Given the description of an element on the screen output the (x, y) to click on. 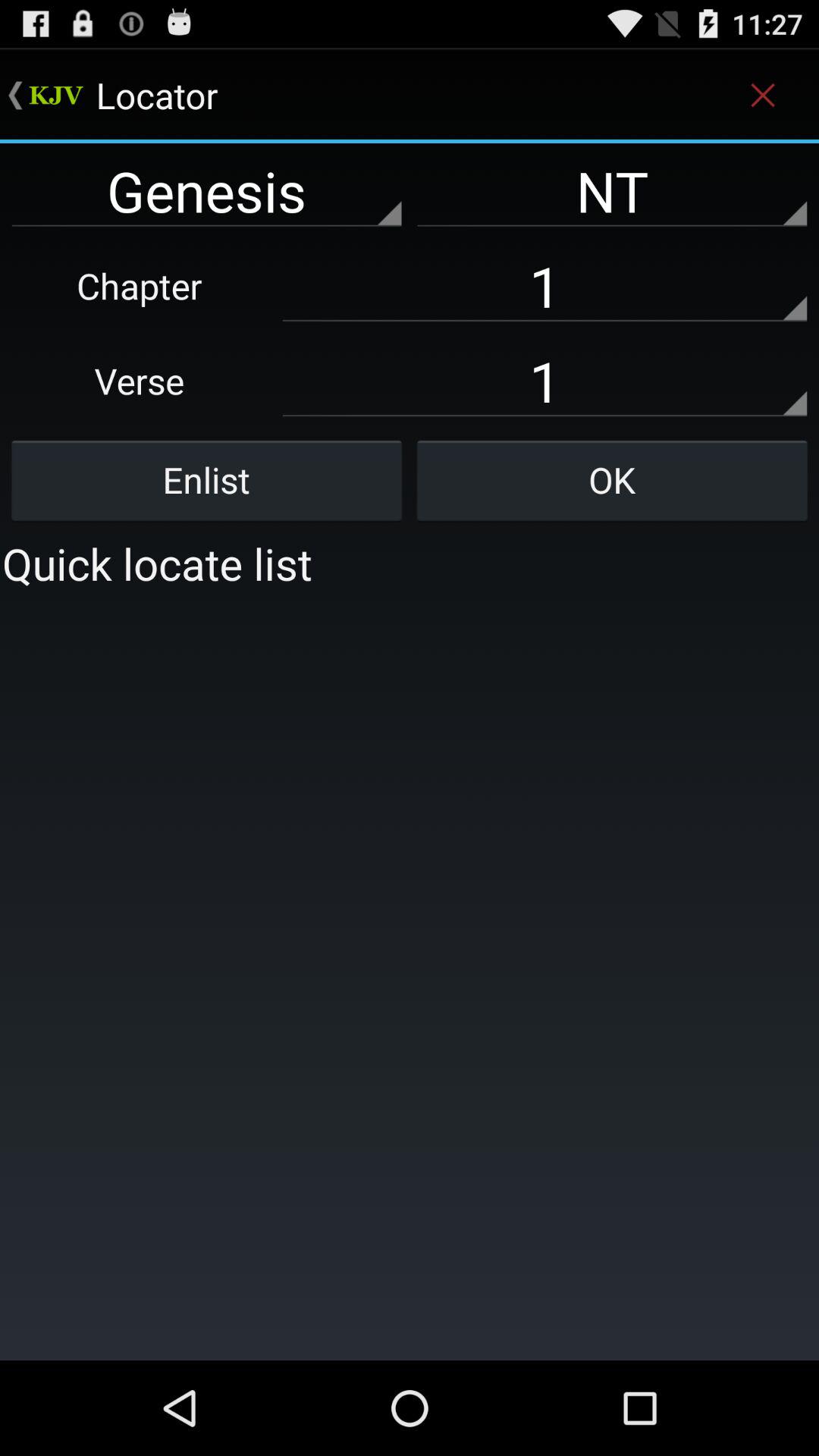
choose the enlist button (206, 479)
